Given the description of an element on the screen output the (x, y) to click on. 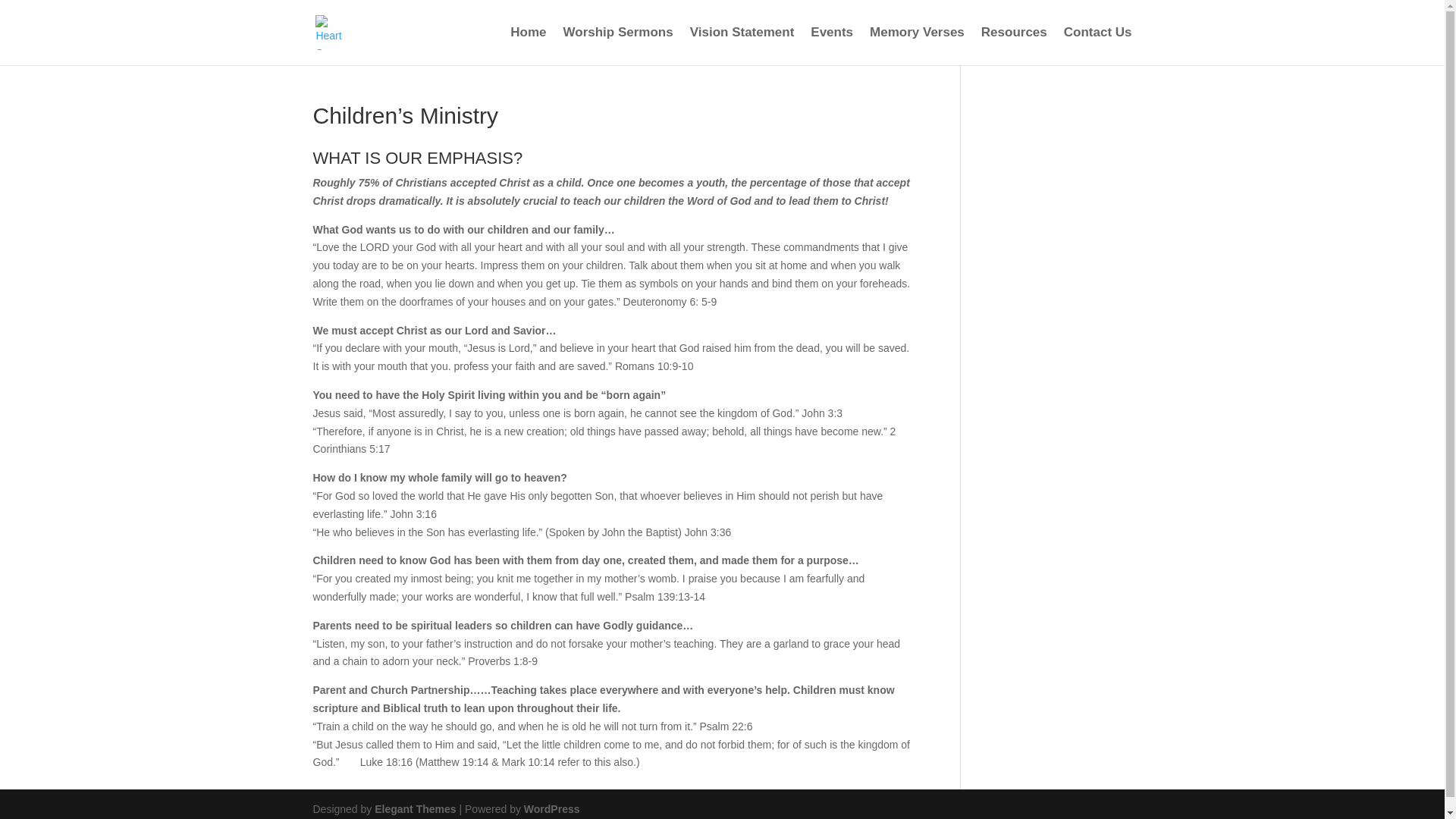
WordPress (551, 808)
Contact Us (1098, 46)
Vision Statement (742, 46)
Resources (1013, 46)
Premium WordPress Themes (414, 808)
Worship Sermons (617, 46)
Elegant Themes (414, 808)
Events (831, 46)
Memory Verses (916, 46)
Home (528, 46)
